Given the description of an element on the screen output the (x, y) to click on. 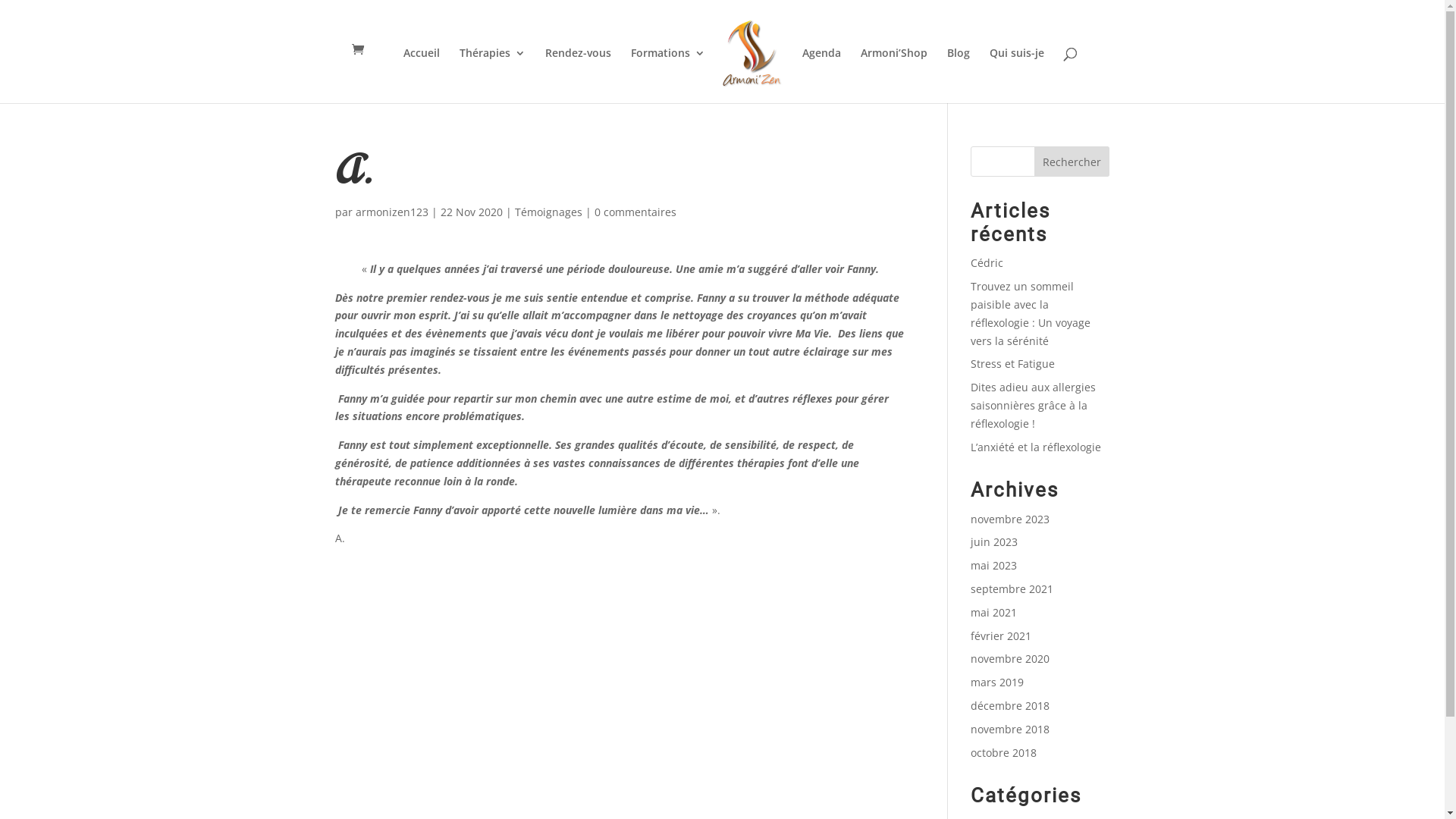
Stress et Fatigue Element type: text (1012, 363)
septembre 2021 Element type: text (1011, 588)
Blog Element type: text (958, 75)
armonizen123 Element type: text (391, 211)
novembre 2020 Element type: text (1009, 658)
Qui suis-je Element type: text (1016, 75)
Agenda Element type: text (821, 75)
0 commentaires Element type: text (635, 211)
Rechercher Element type: text (1071, 161)
mai 2023 Element type: text (993, 565)
novembre 2018 Element type: text (1009, 728)
Accueil Element type: text (421, 75)
mars 2019 Element type: text (996, 681)
juin 2023 Element type: text (993, 541)
octobre 2018 Element type: text (1003, 751)
novembre 2023 Element type: text (1009, 518)
Rendez-vous Element type: text (578, 75)
Formations Element type: text (667, 75)
mai 2021 Element type: text (993, 612)
